Given the description of an element on the screen output the (x, y) to click on. 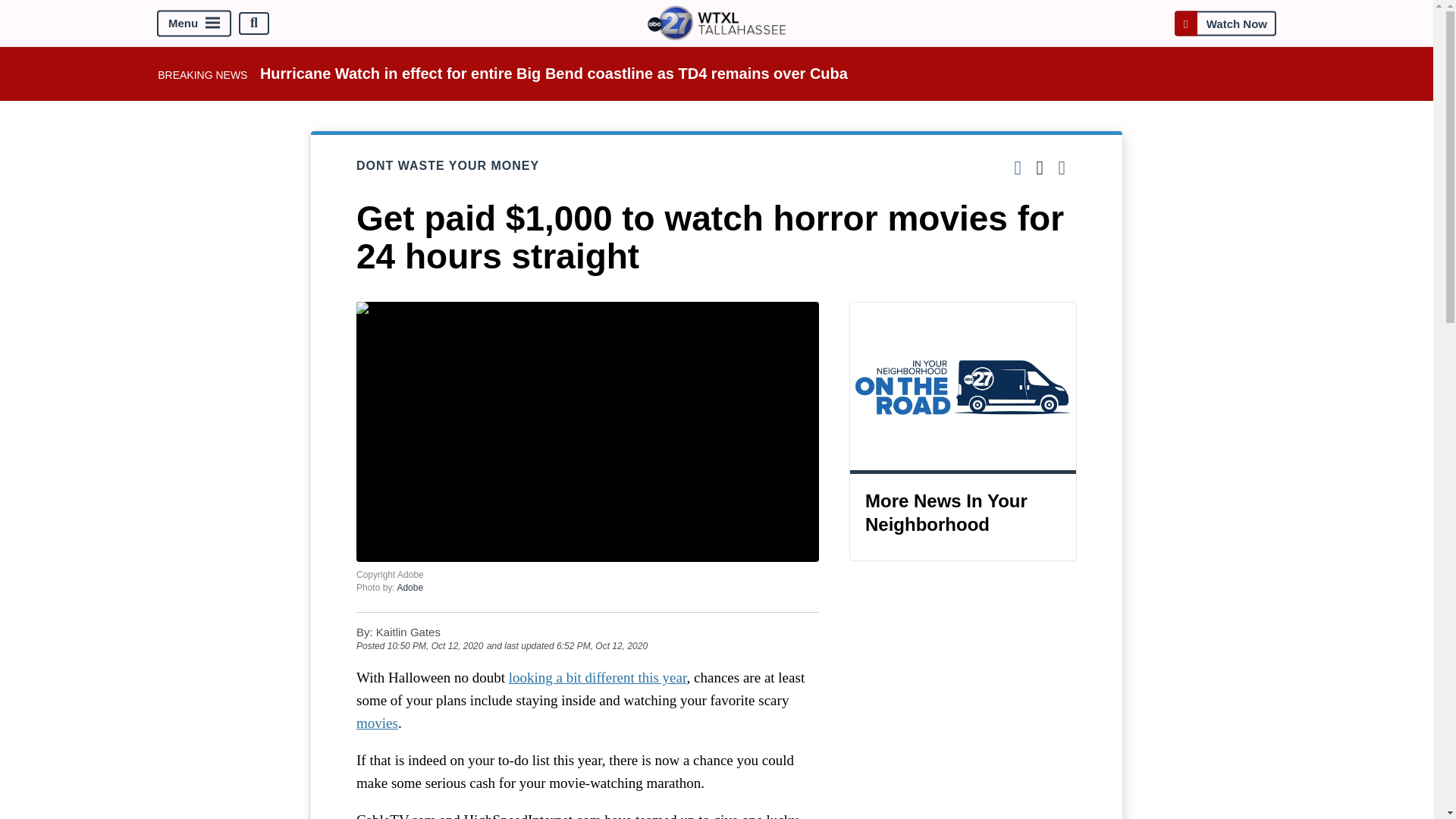
Menu (194, 22)
Watch Now (1224, 22)
